Given the description of an element on the screen output the (x, y) to click on. 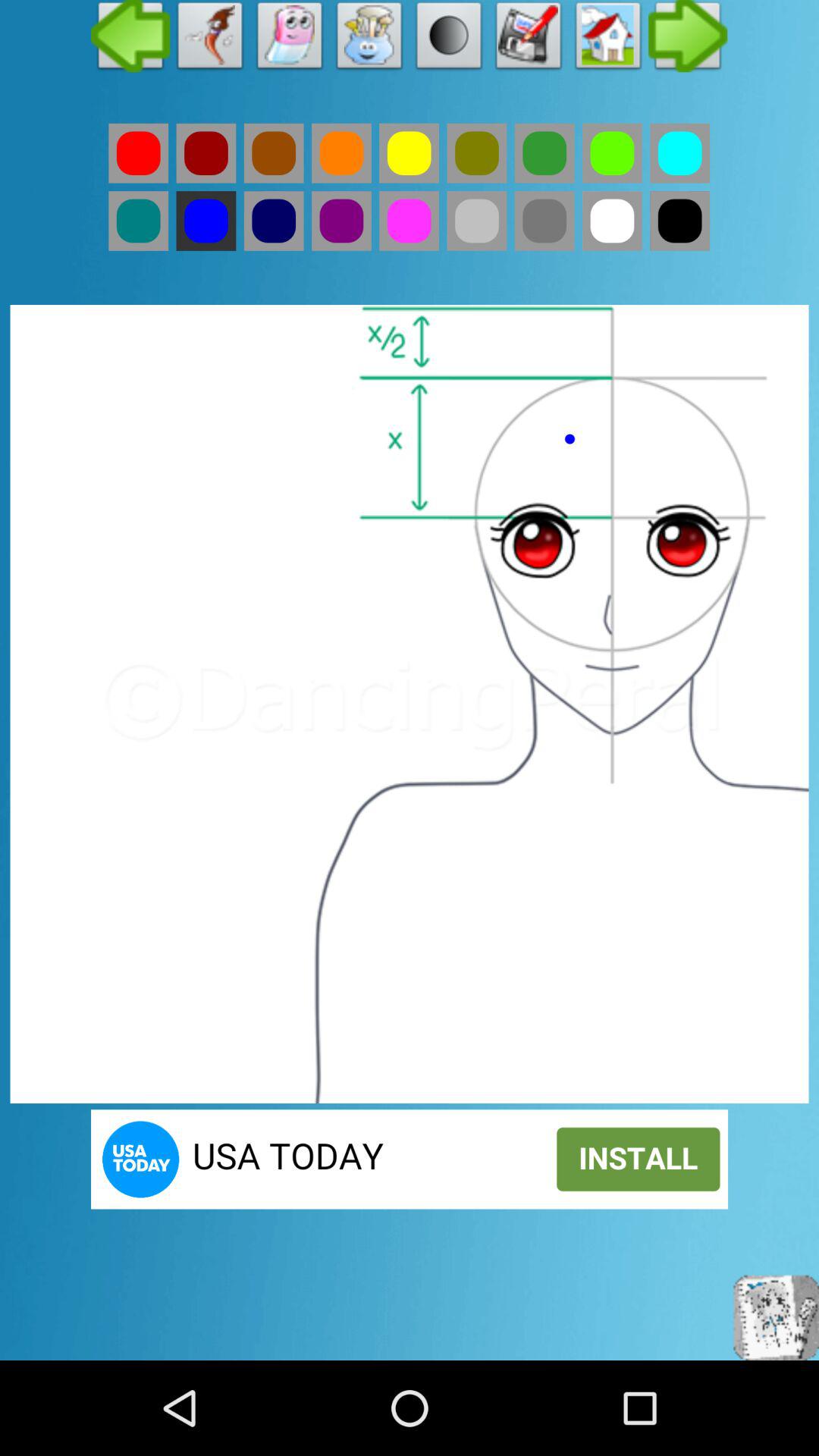
go to app install option (409, 1159)
